Given the description of an element on the screen output the (x, y) to click on. 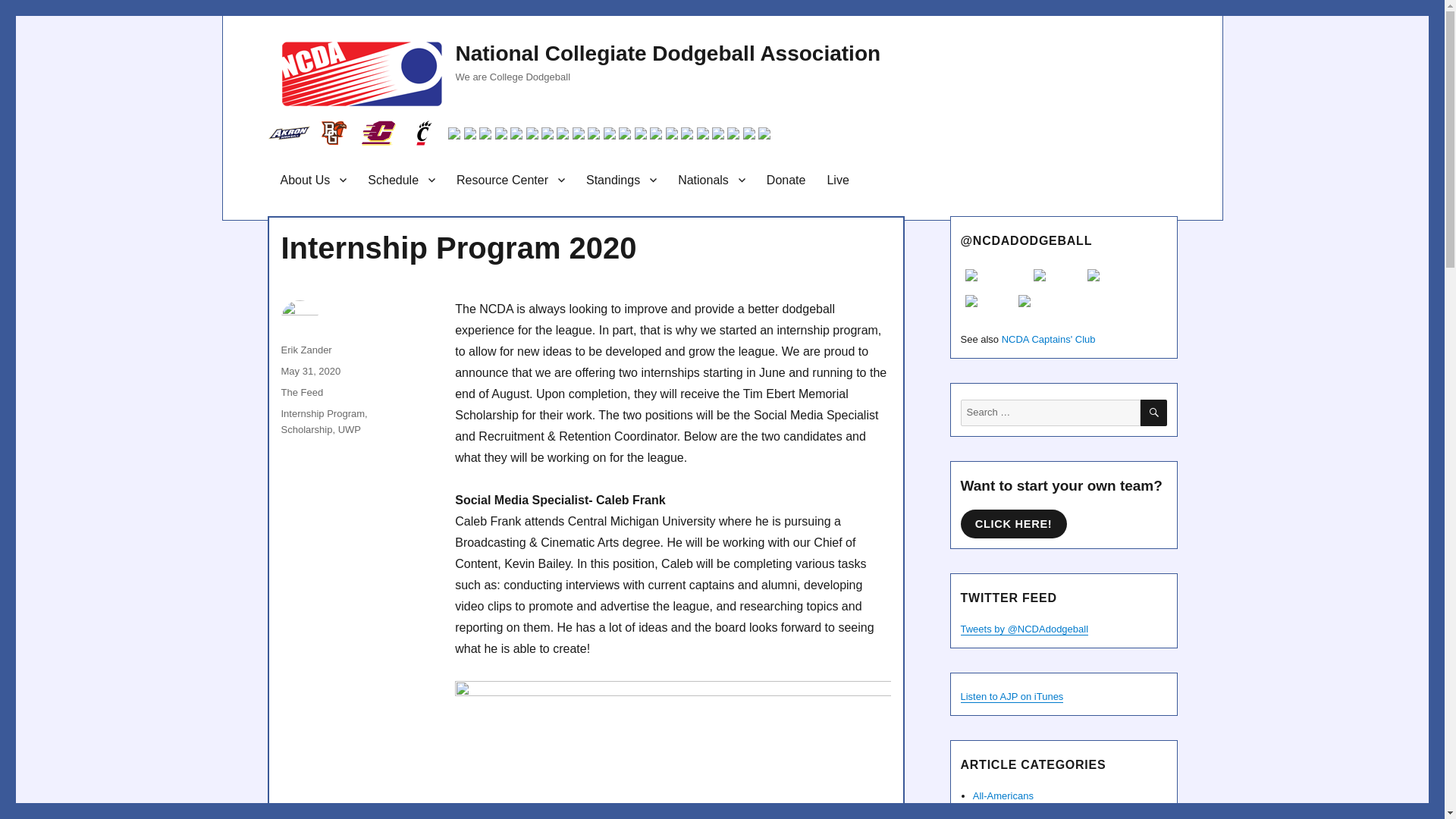
Schedule (400, 179)
National Collegiate Dodgeball Association (667, 53)
Resource Center (510, 179)
About Us (313, 179)
